Given the description of an element on the screen output the (x, y) to click on. 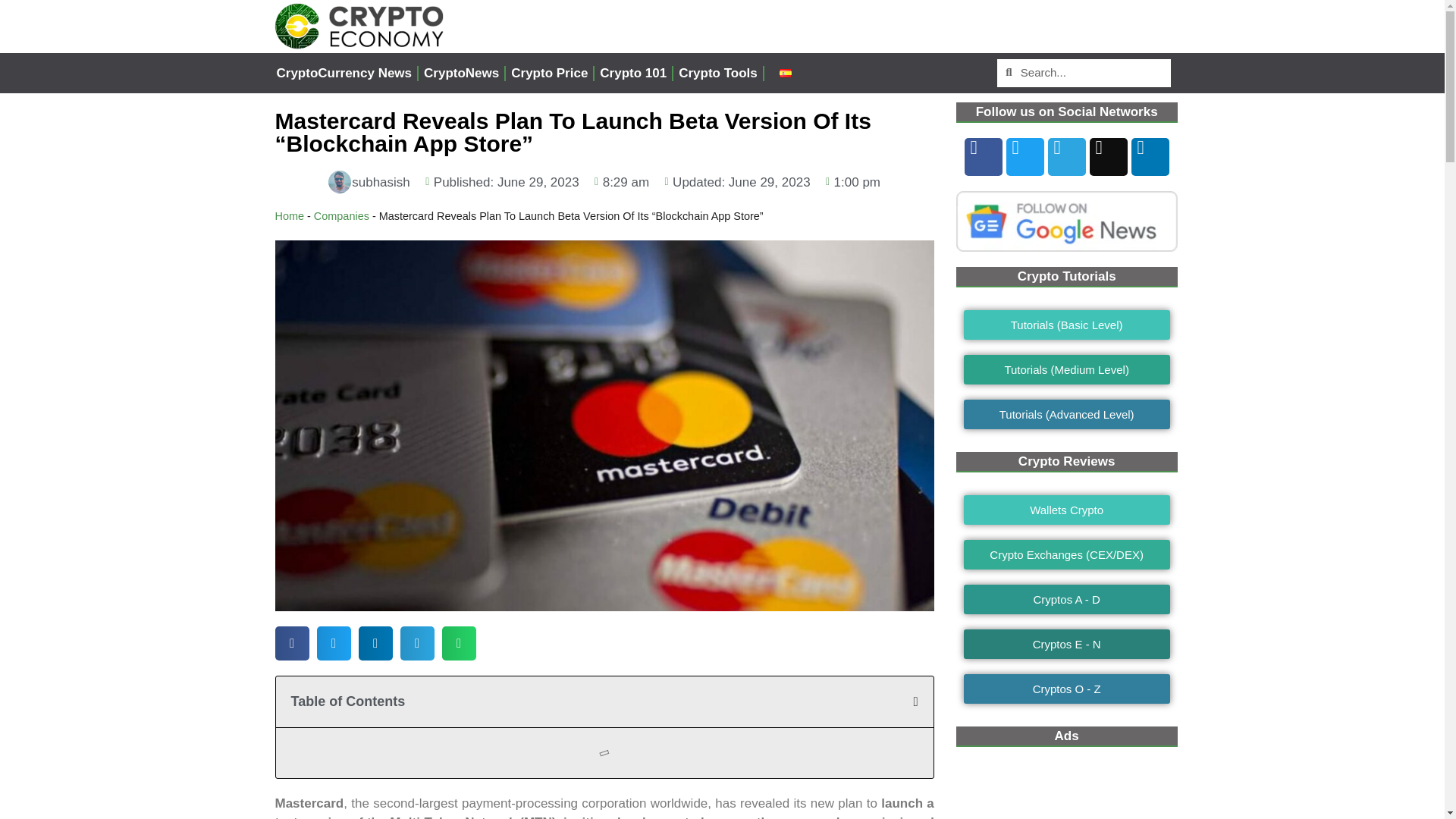
CryptoNews (461, 72)
Crypto 101 (632, 72)
CryptoCurrency News (343, 72)
Crypto Price (548, 72)
